Given the description of an element on the screen output the (x, y) to click on. 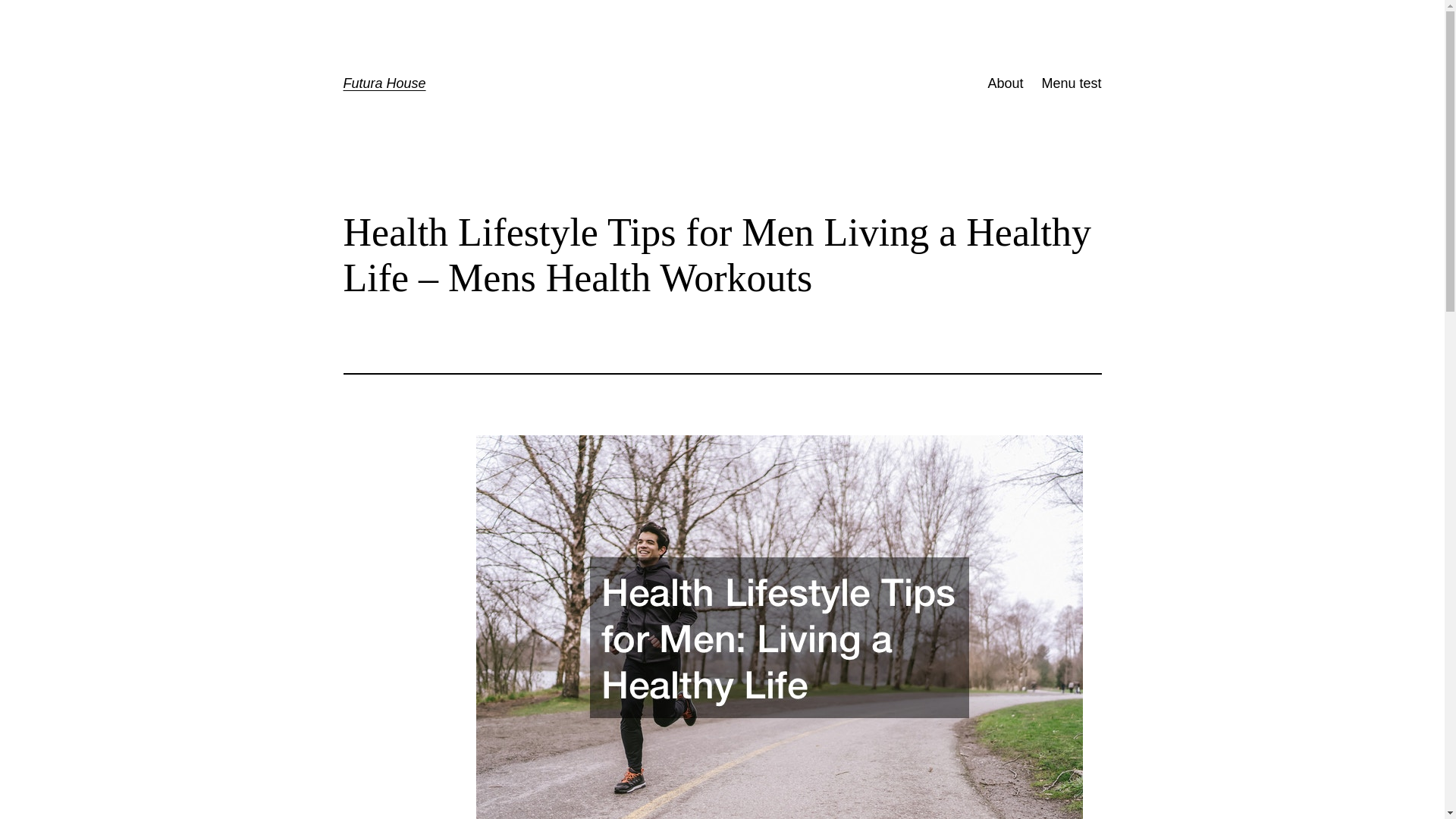
About (1005, 83)
Menu test (1070, 83)
Futura House (383, 83)
